Given the description of an element on the screen output the (x, y) to click on. 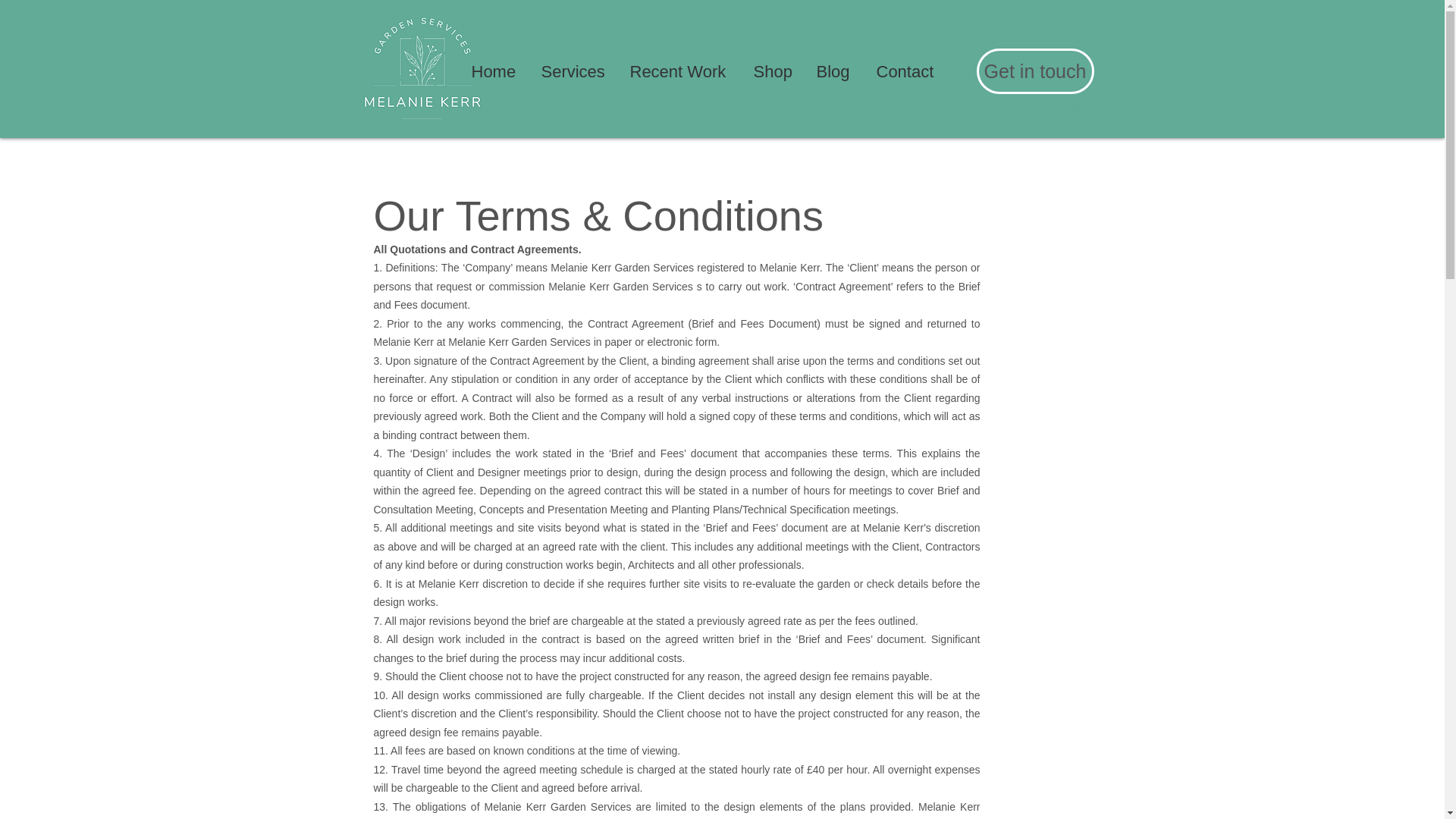
Contact (906, 71)
Shop (773, 71)
Services (573, 71)
Recent Work (680, 71)
Home (494, 71)
Get in touch (1035, 71)
Blog (834, 71)
